Given the description of an element on the screen output the (x, y) to click on. 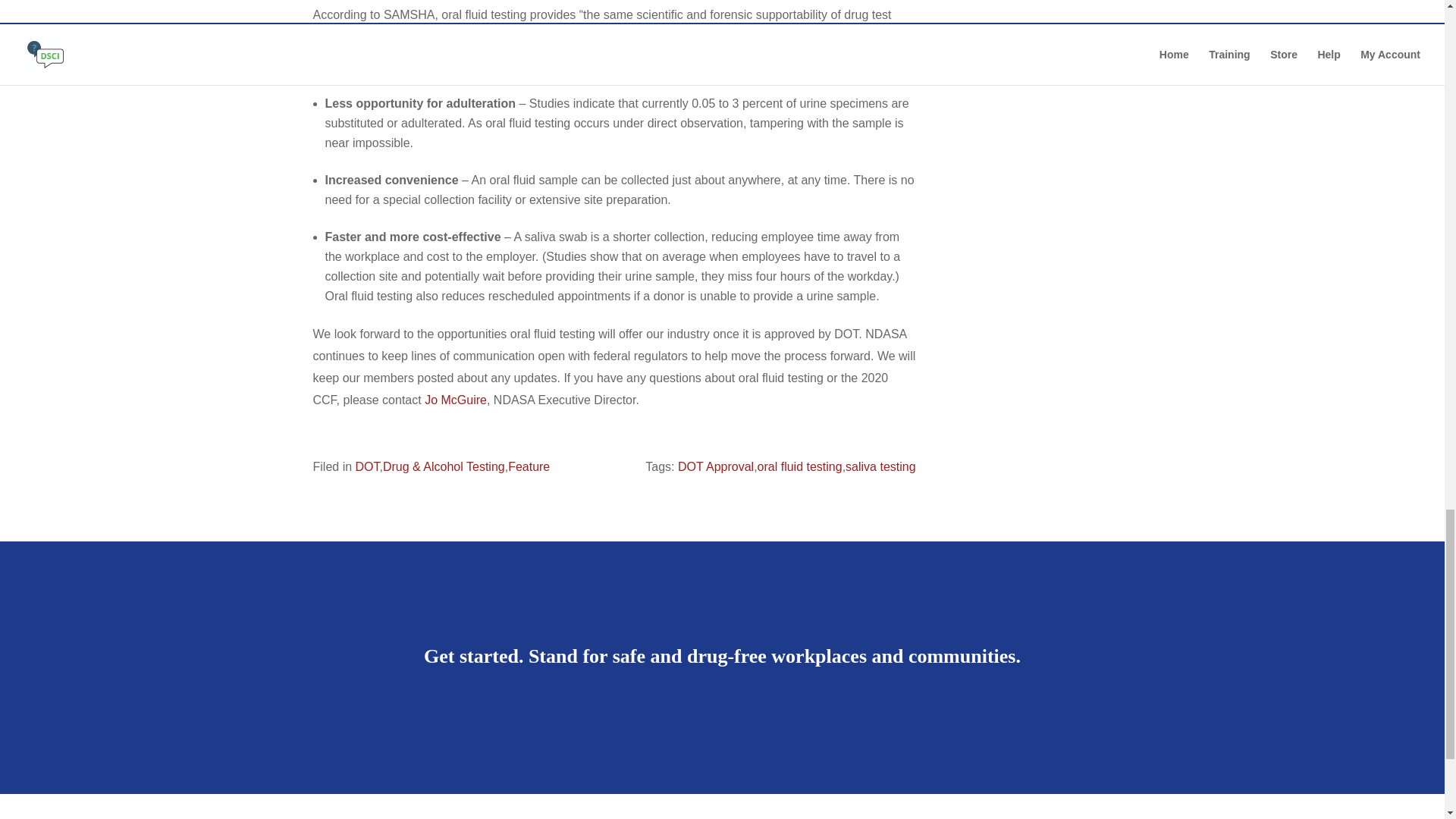
oral fluid testing (800, 466)
Feature (529, 466)
saliva testing (880, 466)
Jo McGuire (454, 399)
DOT (367, 466)
DOT Approval (716, 466)
